Given the description of an element on the screen output the (x, y) to click on. 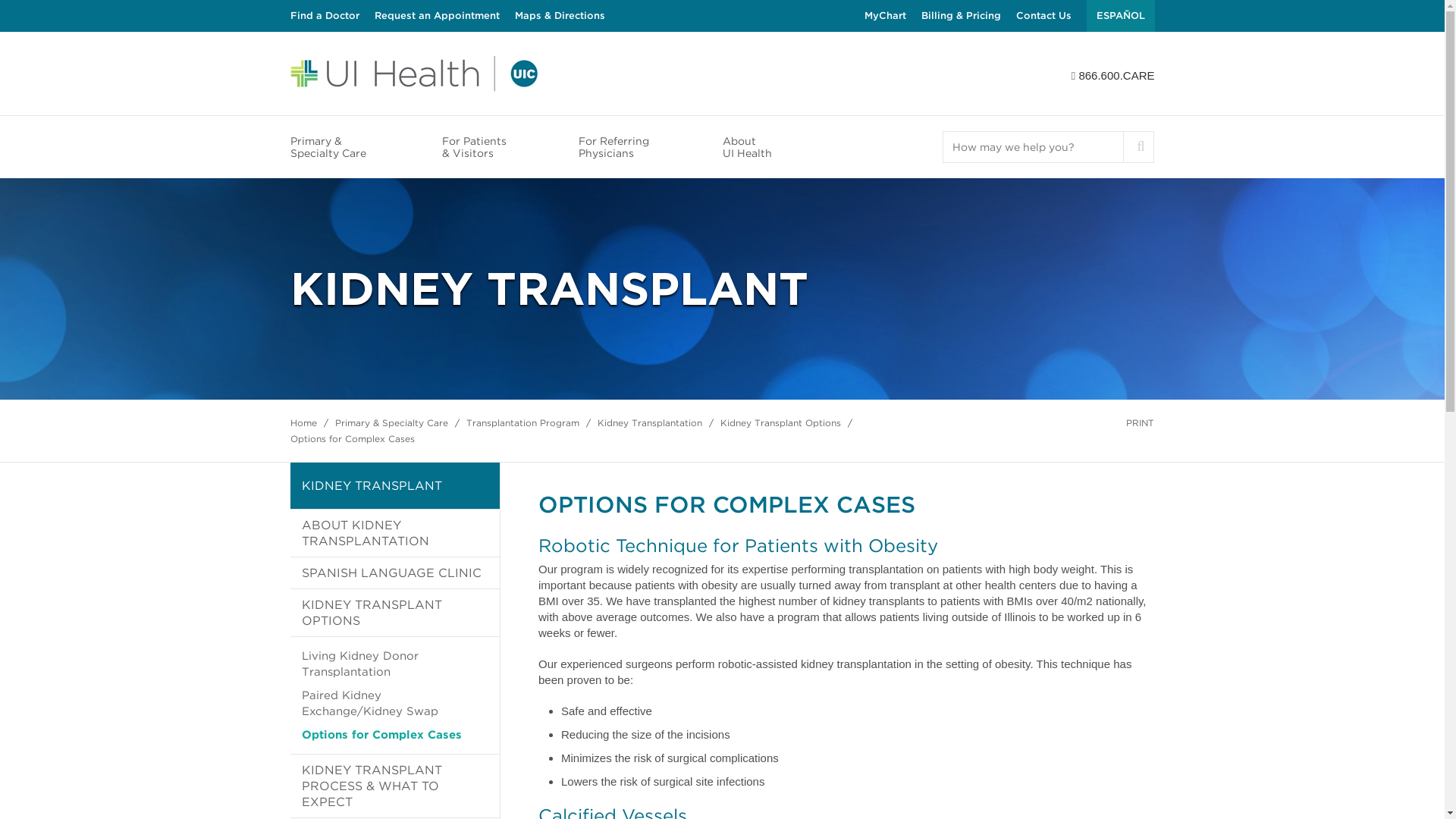
Find a Doctor (323, 15)
Request an Appointment (436, 15)
Opciones Para Casos Complejos (1120, 15)
Request an Appointment (436, 15)
866.600.CARE (1116, 74)
Contact Us (1043, 15)
MyChart (884, 15)
Contact Us (1043, 15)
Pay A Bill (960, 15)
MyChart (884, 15)
Find a Doctor (323, 15)
